Given the description of an element on the screen output the (x, y) to click on. 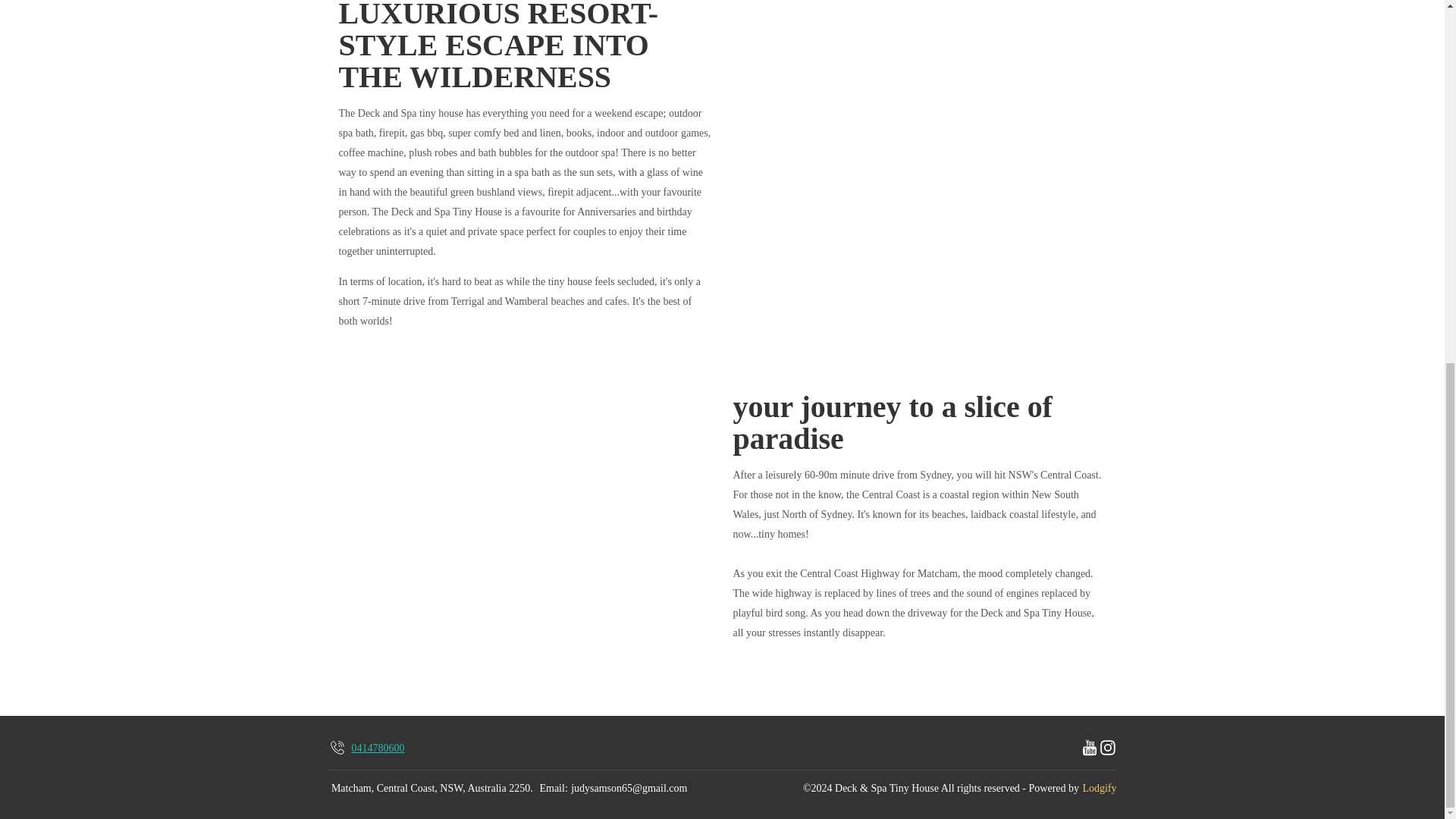
Instagram (1106, 748)
Lodgify (1098, 788)
Youtube (1088, 748)
Instagram (1106, 748)
Youtube (1088, 748)
0414780600 (365, 748)
